Given the description of an element on the screen output the (x, y) to click on. 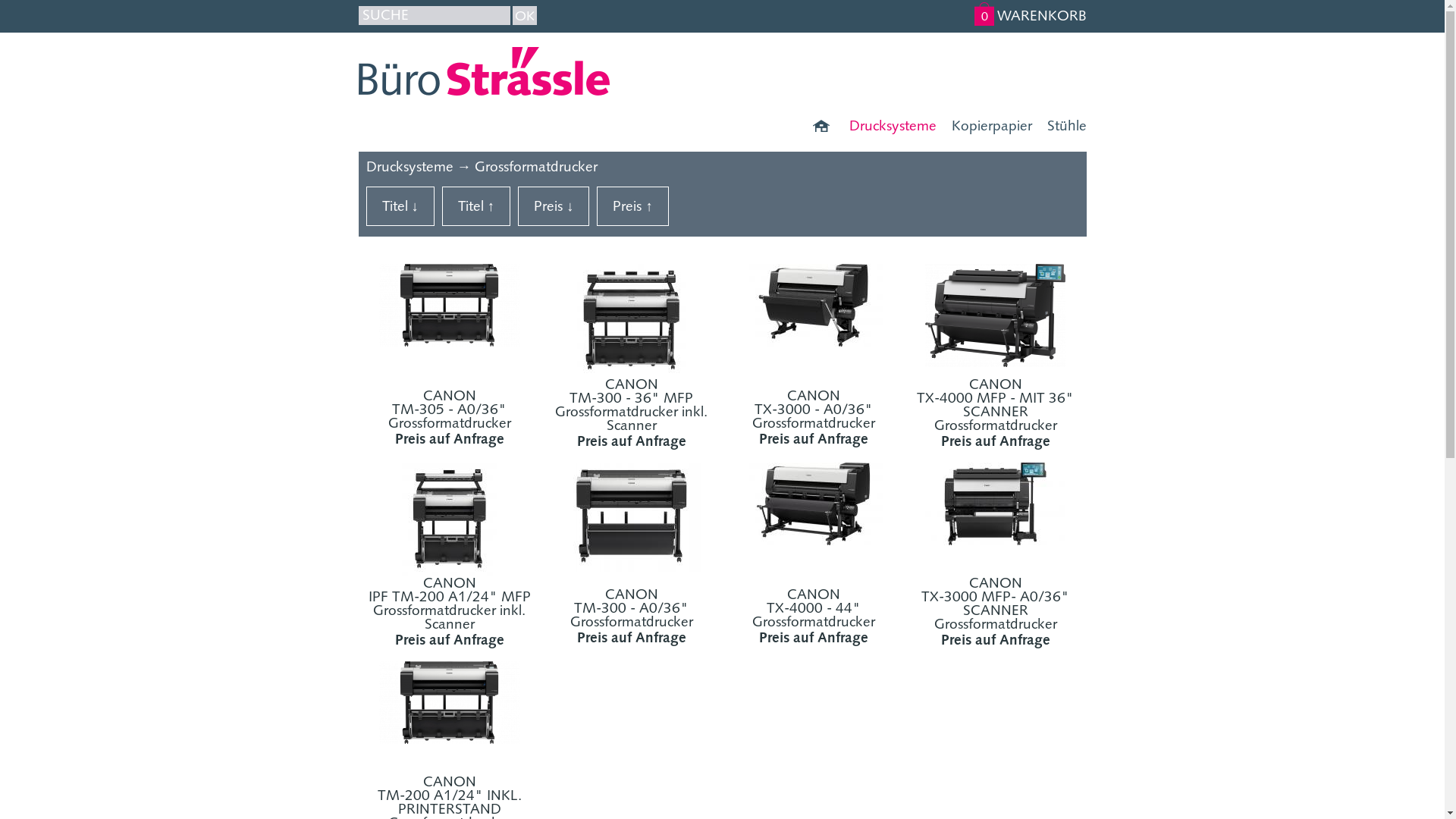
CANON
TM-300 - A0/36"
Grossformatdrucker
Preis auf Anfrage Element type: text (631, 519)
Grossformatdrucker Element type: text (535, 166)
OK Element type: text (524, 15)
Drucksysteme Element type: text (885, 125)
Preis Element type: text (553, 205)
Startseite Element type: text (818, 125)
Preis Element type: text (632, 205)
CANON
TM-305 - A0/36"
Grossformatdrucker
Preis auf Anfrage Element type: text (449, 320)
CANON
TX-3000 - A0/36"
Grossformatdrucker
Preis auf Anfrage Element type: text (813, 320)
Titel Element type: text (400, 205)
Kopierpapier Element type: text (983, 125)
Drucksysteme Element type: text (408, 166)
WARENKORB Element type: text (1040, 15)
Titel Element type: text (476, 205)
CANON
TX-4000 - 44"
Grossformatdrucker
Preis auf Anfrage Element type: text (813, 519)
